Given the description of an element on the screen output the (x, y) to click on. 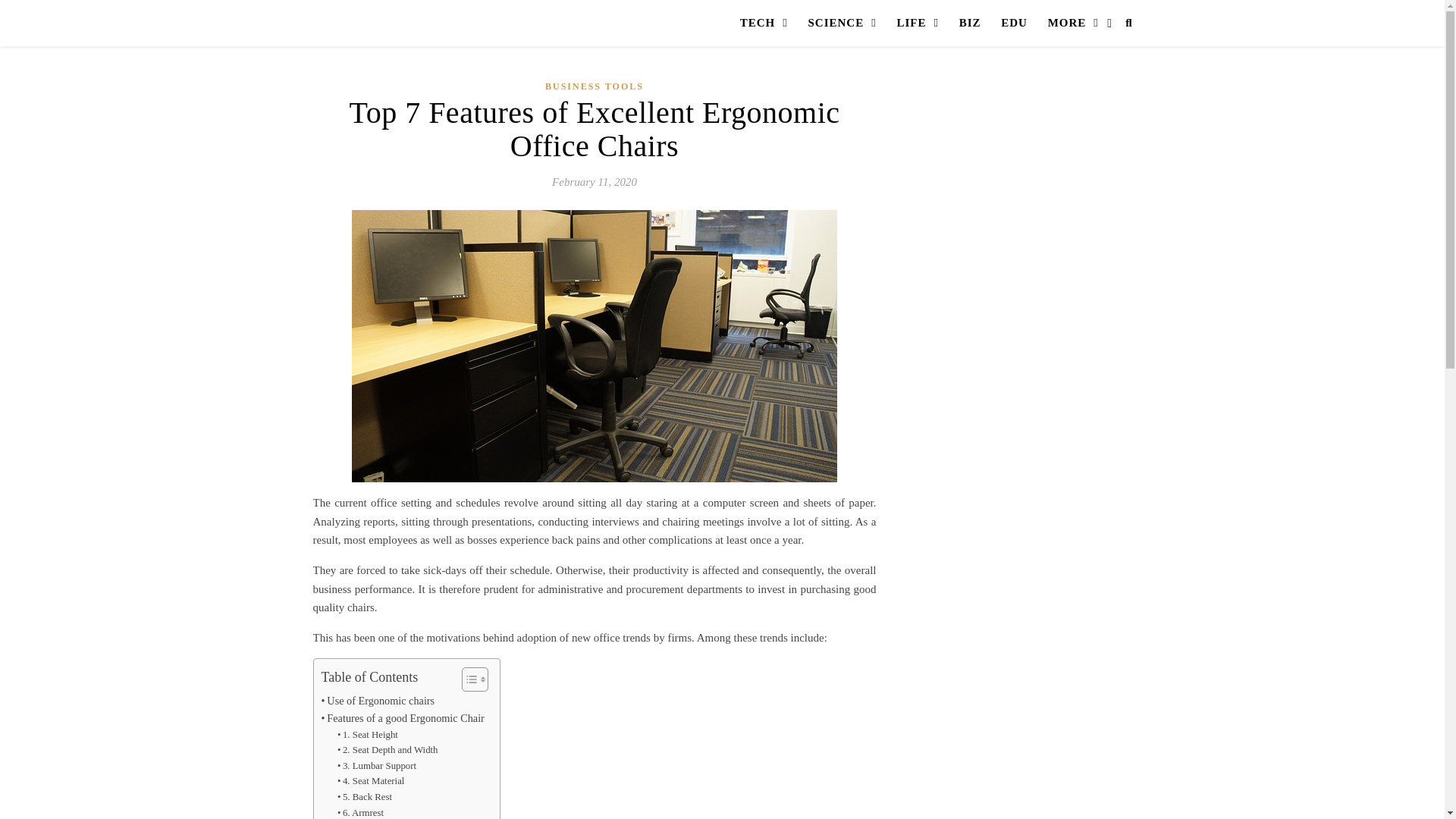
TECH (763, 22)
1. Seat Height (367, 734)
LIFE (917, 22)
CosmoBC BizBlog (418, 64)
5. Back Rest (364, 797)
3. Lumbar Support (376, 765)
Features of a good Ergonomic Chair (402, 718)
Use of Ergonomic chairs (378, 701)
EDU (1014, 22)
6. Armrest (360, 812)
4. Seat Material (370, 781)
2. Seat Depth and Width (387, 750)
SCIENCE (842, 22)
MORE (1072, 22)
